Given the description of an element on the screen output the (x, y) to click on. 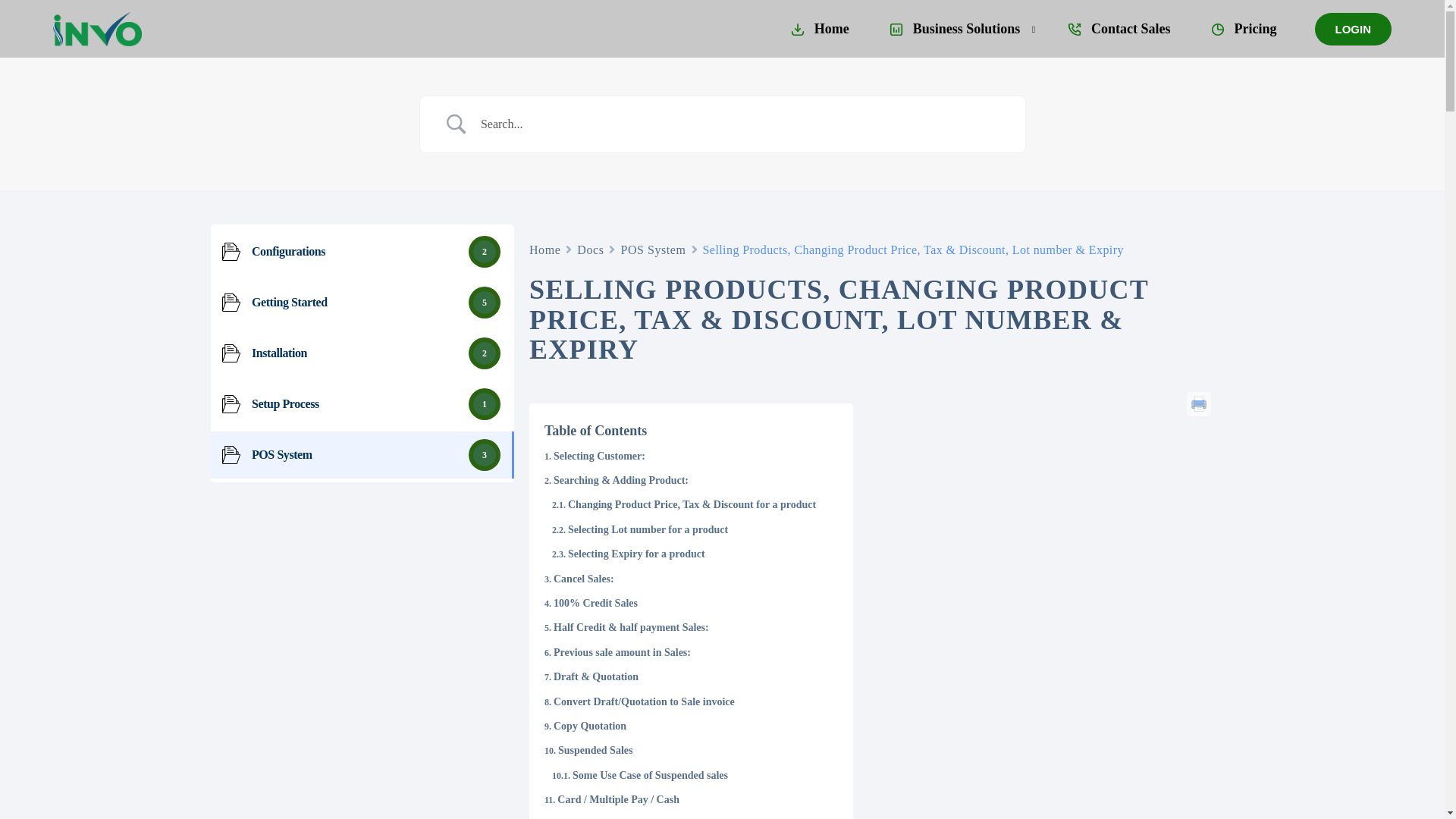
Business Solutions (956, 28)
Pricing (1242, 28)
Some Use Case of Suspended sales (639, 775)
Suspended Sales (587, 750)
Selecting Expiry for a product (627, 554)
LOGIN (1352, 29)
Cancel Sales: (579, 579)
Home (544, 249)
Home (544, 249)
Copy Quotation (585, 726)
